Given the description of an element on the screen output the (x, y) to click on. 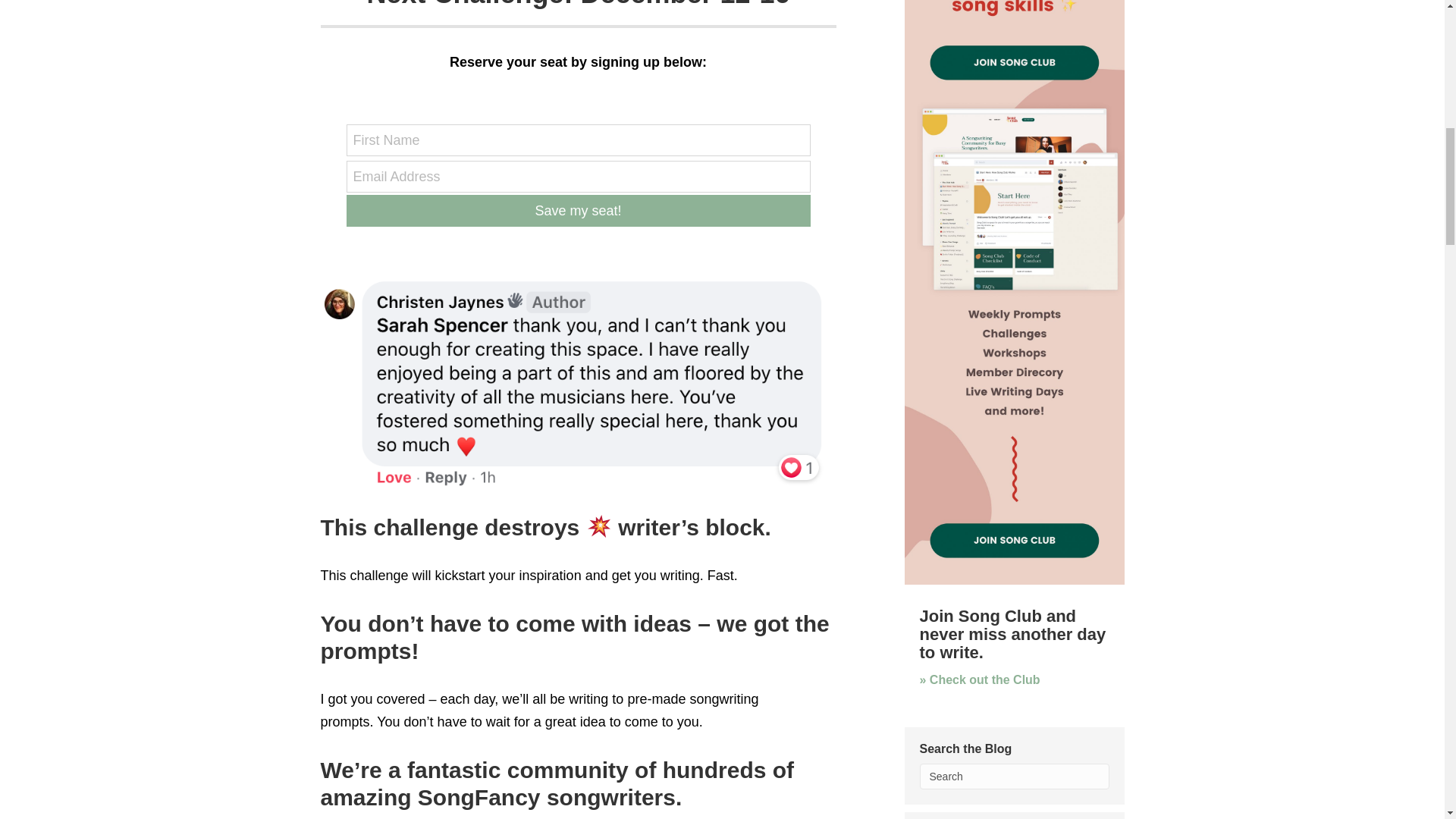
Save my seat! (577, 210)
Search (1013, 776)
Type and press Enter to search. (1013, 776)
sidebar-song-club (1014, 292)
Search (1013, 776)
